Given the description of an element on the screen output the (x, y) to click on. 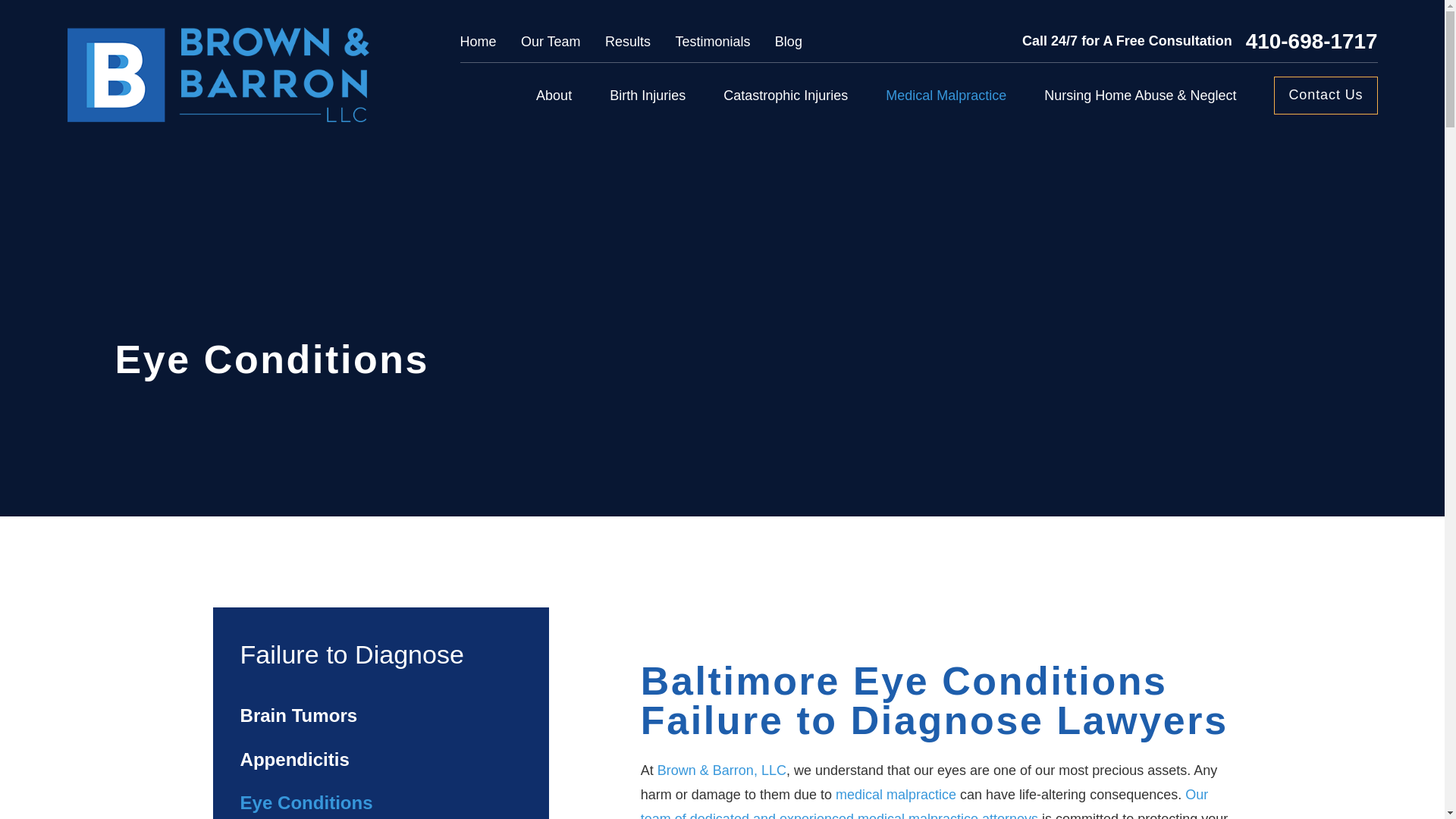
Catastrophic Injuries (785, 95)
Blog (788, 41)
410-698-1717 (1311, 41)
Our Team (550, 41)
Home (478, 41)
Results (627, 41)
About (553, 95)
Home (217, 74)
Birth Injuries (647, 95)
Testimonials (712, 41)
